Given the description of an element on the screen output the (x, y) to click on. 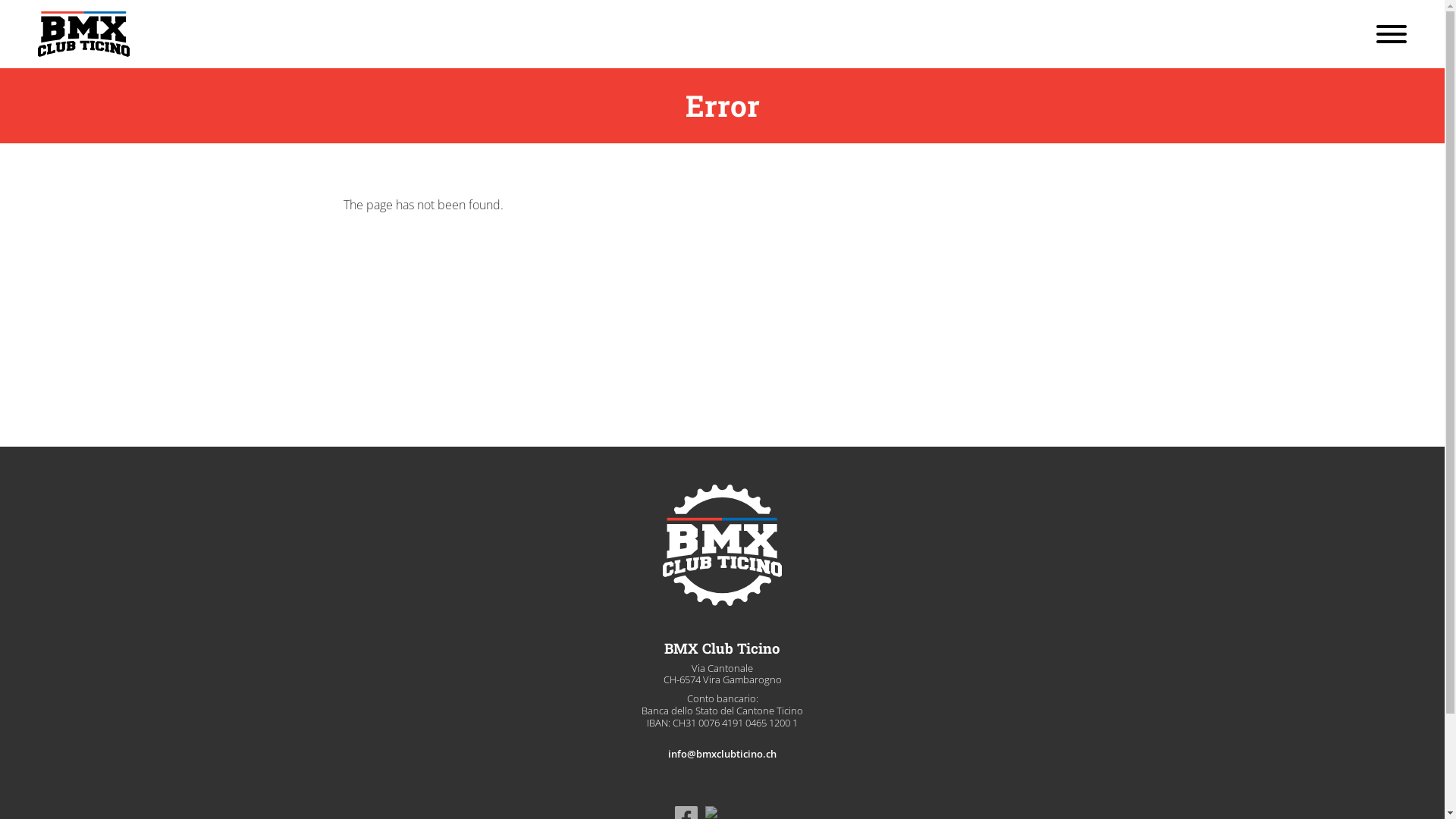
info@bmxclubticino.ch Element type: text (722, 754)
